Given the description of an element on the screen output the (x, y) to click on. 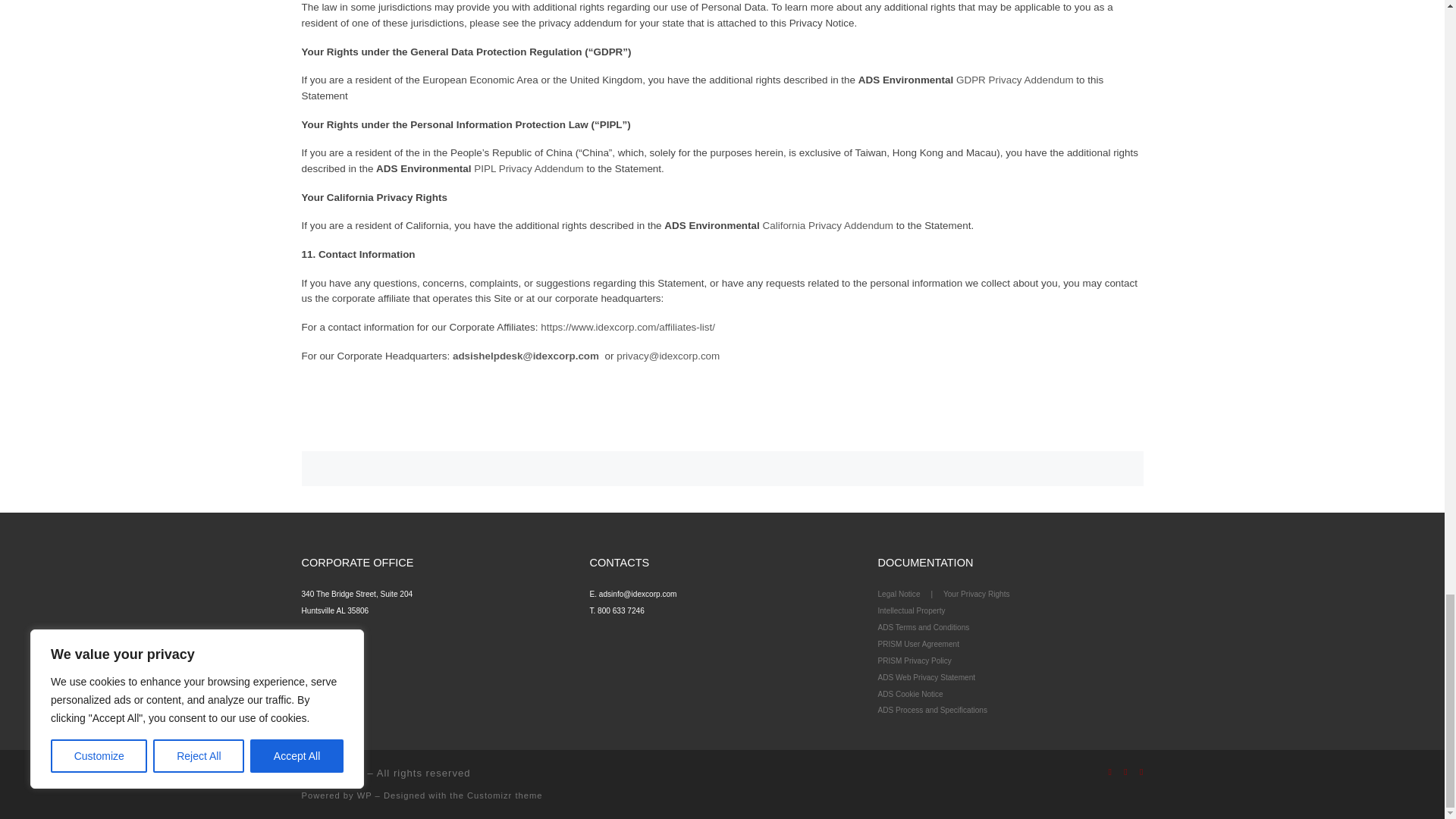
ADS (352, 772)
Customizr theme (505, 795)
Powered by WordPress (364, 795)
